Given the description of an element on the screen output the (x, y) to click on. 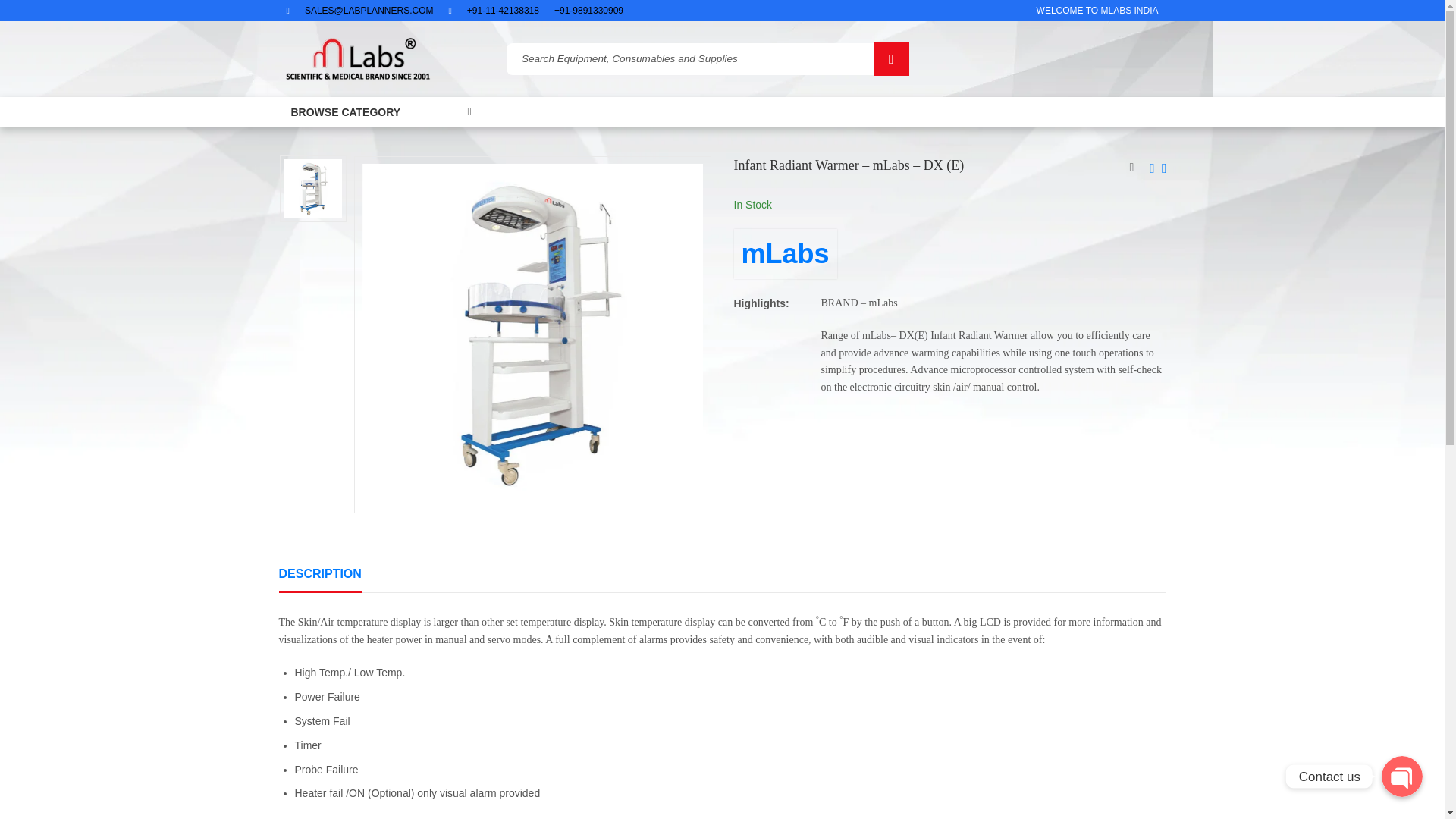
SEARCH (890, 59)
